Given the description of an element on the screen output the (x, y) to click on. 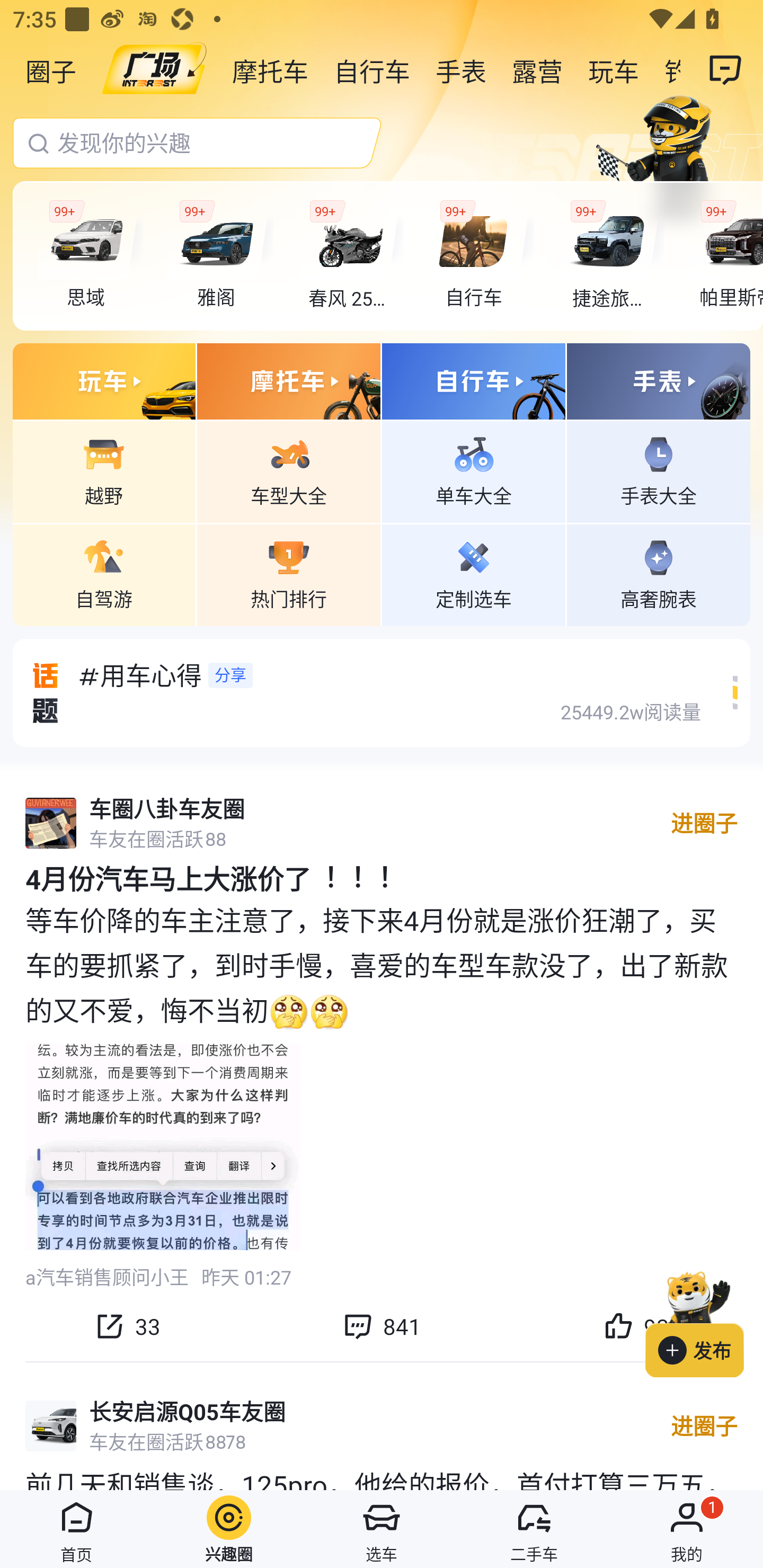
圈子 (50, 69)
image (153, 69)
摩托车 (269, 69)
自行车 (372, 69)
手表 (460, 69)
露营 (537, 69)
玩车 (613, 69)
 (726, 69)
99+ 思域 (90, 256)
99+ 雅阁 (220, 256)
99+ 春风 250SR (351, 256)
99+ 自行车 (481, 256)
99+ 捷途旅行者 (611, 256)
99+ 帕里斯帝 (726, 256)
越野 (103, 471)
车型大全 (288, 471)
单车大全 (473, 471)
手表大全 (658, 471)
自驾游 (103, 574)
热门排行 (288, 574)
定制选车 (473, 574)
高奢腕表 (658, 574)
 用车心得 分享 25449.2w阅读量 (381, 692)
 用车心得 分享 25449.2w阅读量 (395, 692)
车圈八卦车友圈 车友在圈活跃 88 进圈子 (381, 822)
发布 (704, 1320)
 33 (127, 1326)
 841 (381, 1326)
93 (635, 1326)
长安启源Q05车友圈 车友在圈活跃 8878 进圈子 (381, 1425)
 首页 (76, 1528)
兴趣圈 (228, 1528)
 选车 (381, 1528)
 二手车 (533, 1528)
 我的 (686, 1528)
